Given the description of an element on the screen output the (x, y) to click on. 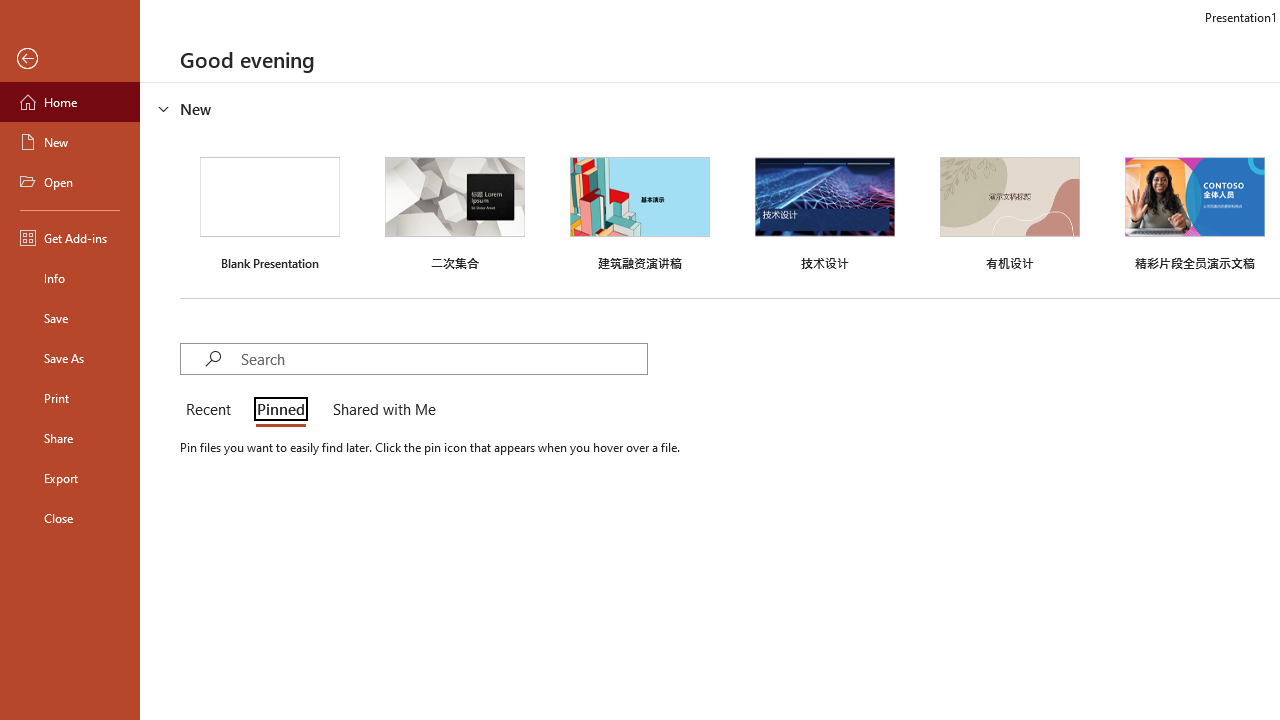
Back (69, 59)
Print (69, 398)
Pinned (280, 410)
New (69, 141)
Save As (69, 357)
Info (69, 277)
Shared with Me (379, 410)
Blank Presentation (269, 211)
